Given the description of an element on the screen output the (x, y) to click on. 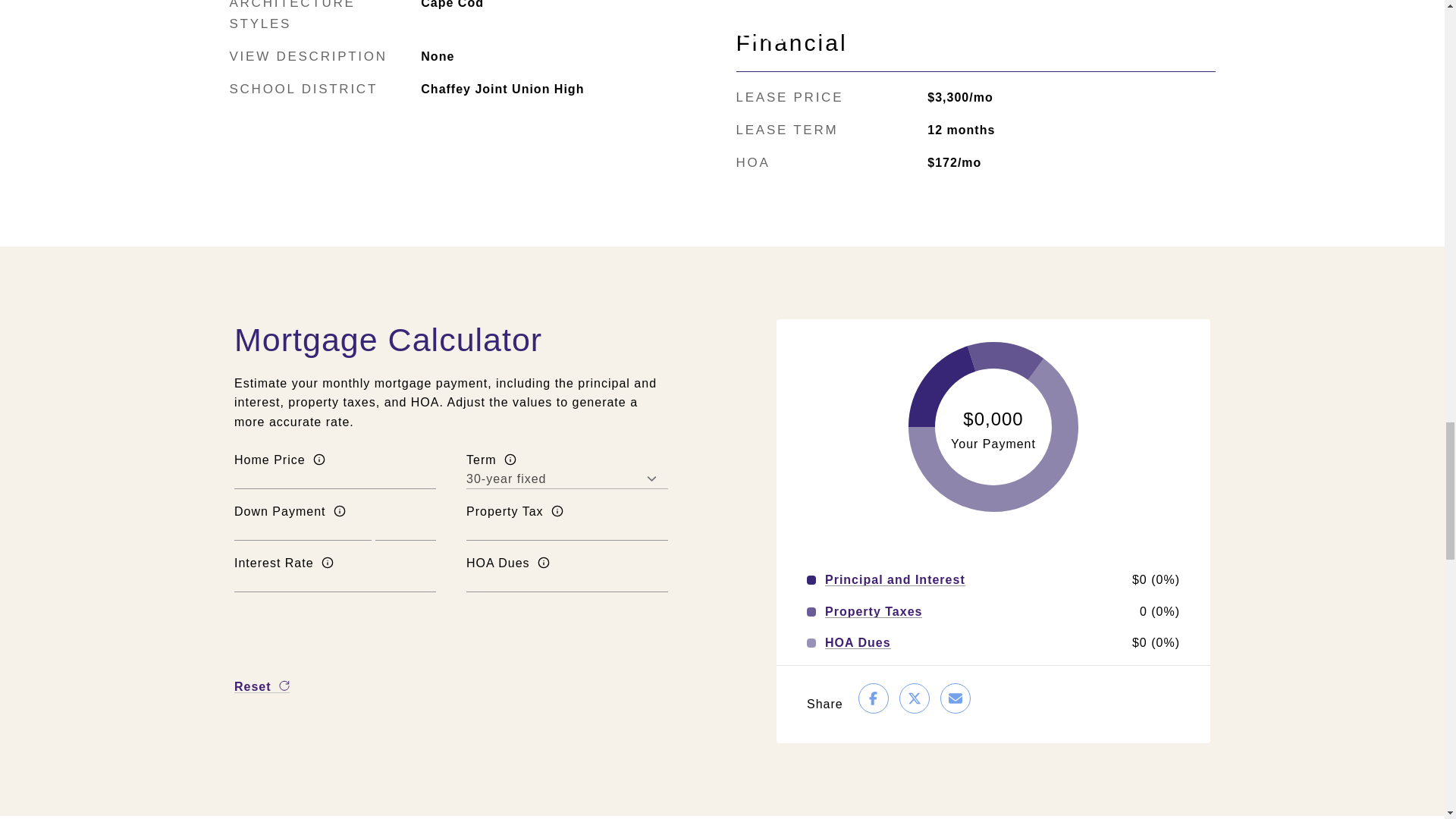
HOA Dues (858, 643)
Reset (261, 686)
Property Taxes (873, 612)
Principal and Interest (895, 580)
